Given the description of an element on the screen output the (x, y) to click on. 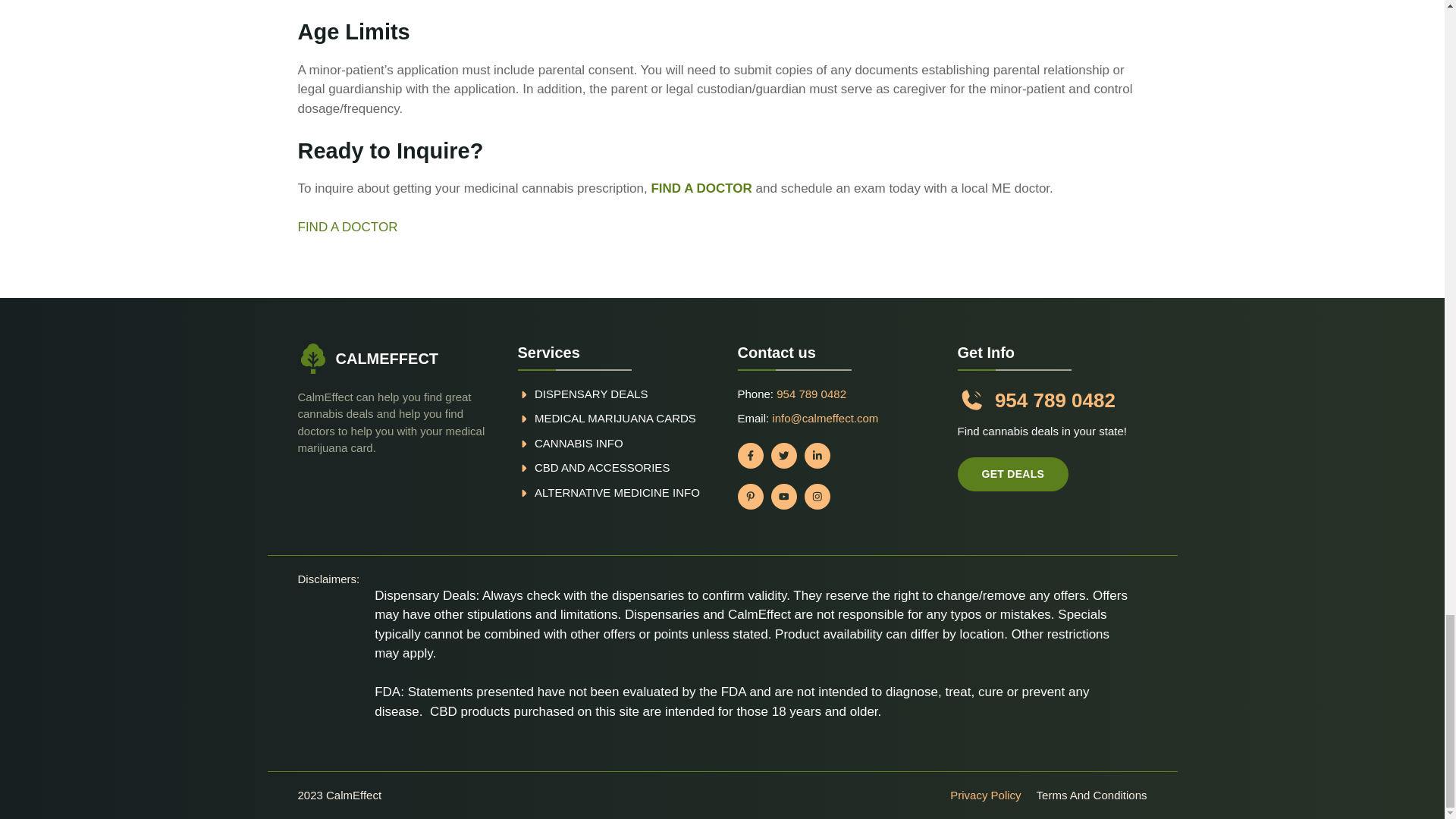
DISPENSARY (570, 393)
954 789 0482 (810, 393)
FIND A DOCTOR (347, 227)
DEALS (628, 393)
MARIJUANA (620, 418)
CBD AND ACCESSORIES (601, 467)
INFO (609, 442)
FIND A DOCTOR (700, 187)
CARDS (673, 418)
MEDICAL (561, 418)
